Given the description of an element on the screen output the (x, y) to click on. 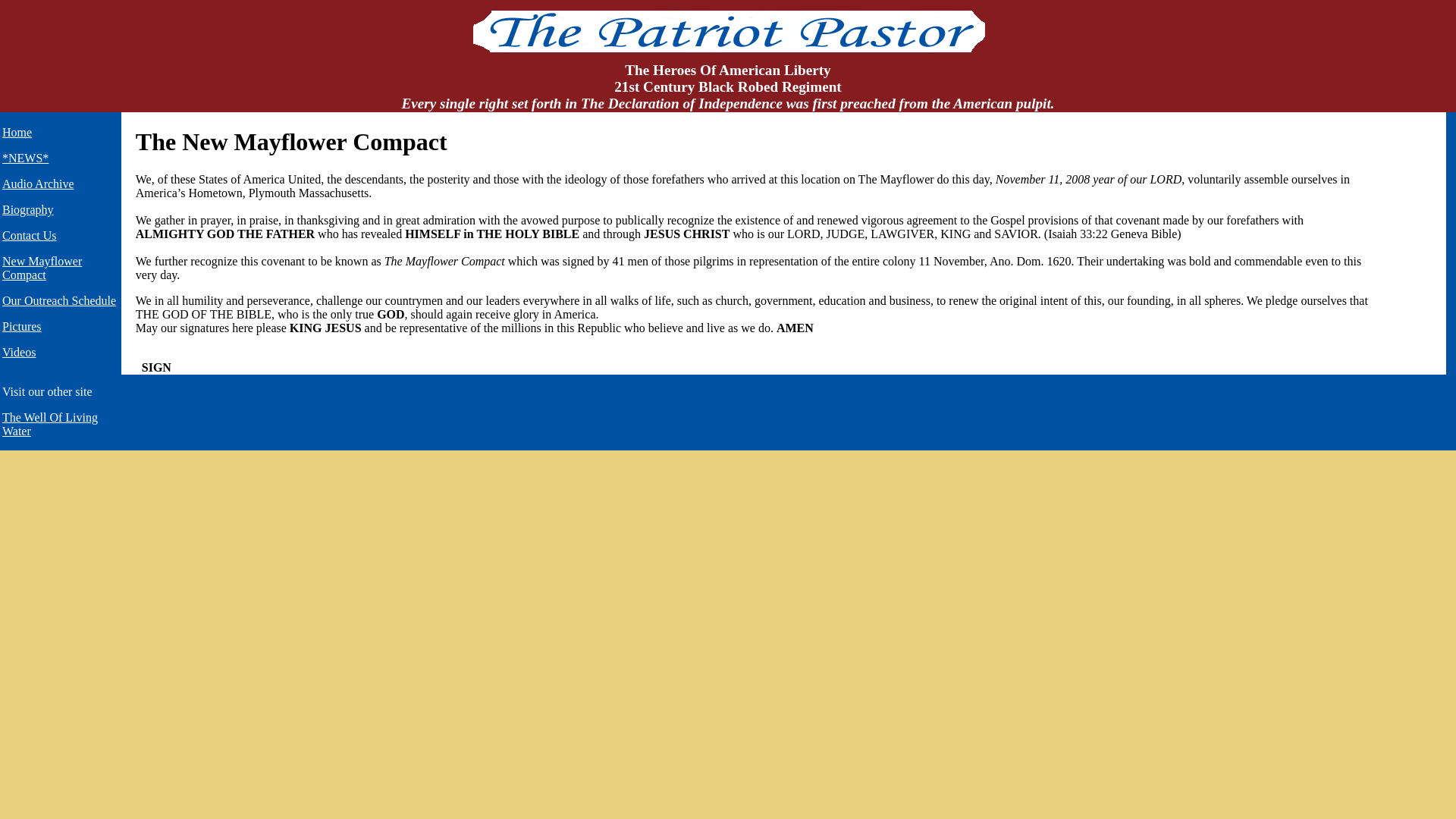
Videos (18, 351)
Our Outreach Schedule (59, 300)
New Mayflower Compact (41, 267)
Contact Us (29, 235)
The Well Of Living Water (49, 424)
Audio Archive (38, 183)
Home (17, 132)
Biography (27, 209)
Pictures (22, 326)
